Given the description of an element on the screen output the (x, y) to click on. 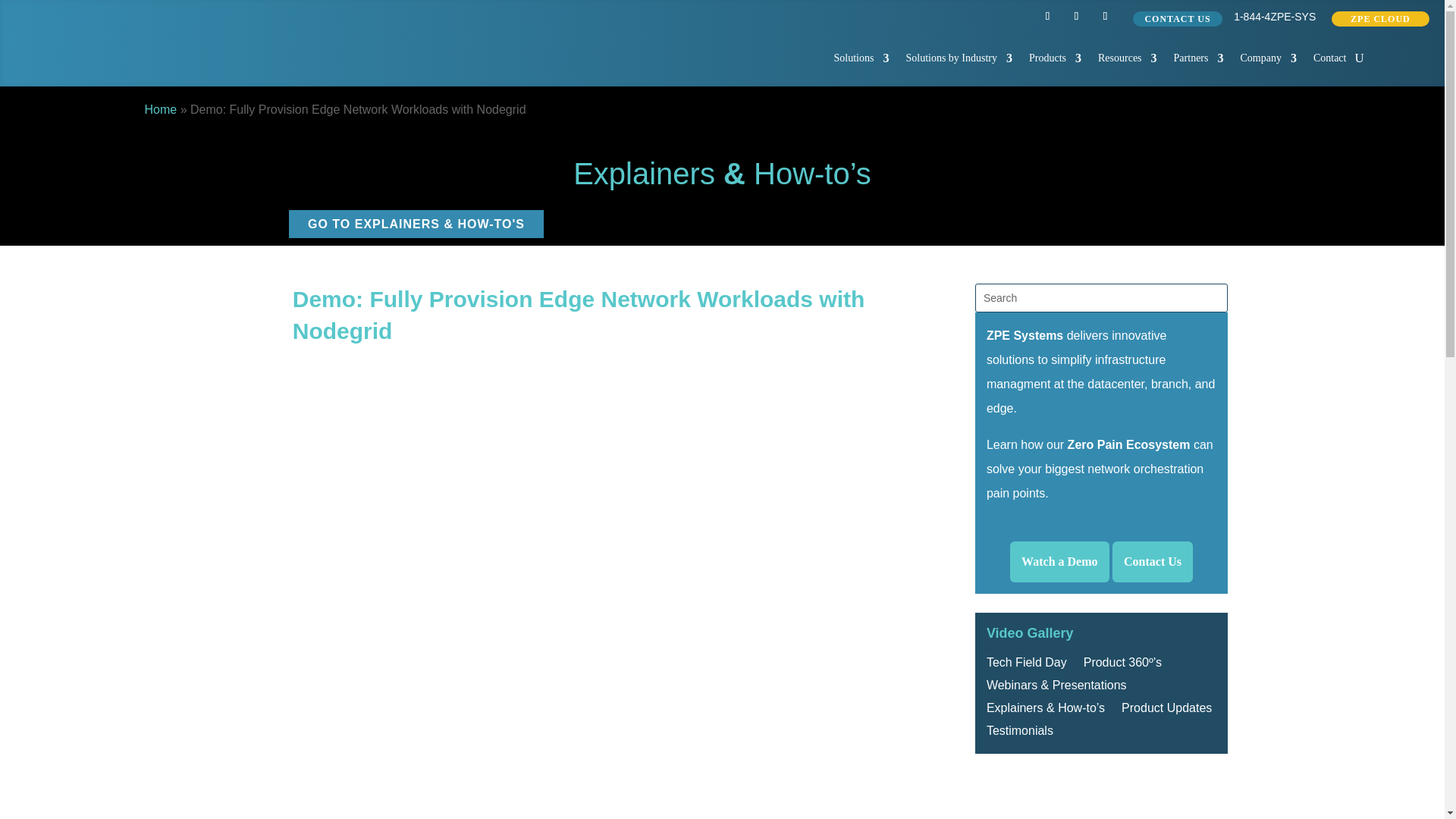
ZPE CLOUD (1380, 18)
CONTACT US (1176, 18)
Follow on X (1075, 15)
Follow on LinkedIn (1046, 15)
Solutions (861, 57)
Follow on Facebook (1104, 15)
